Given the description of an element on the screen output the (x, y) to click on. 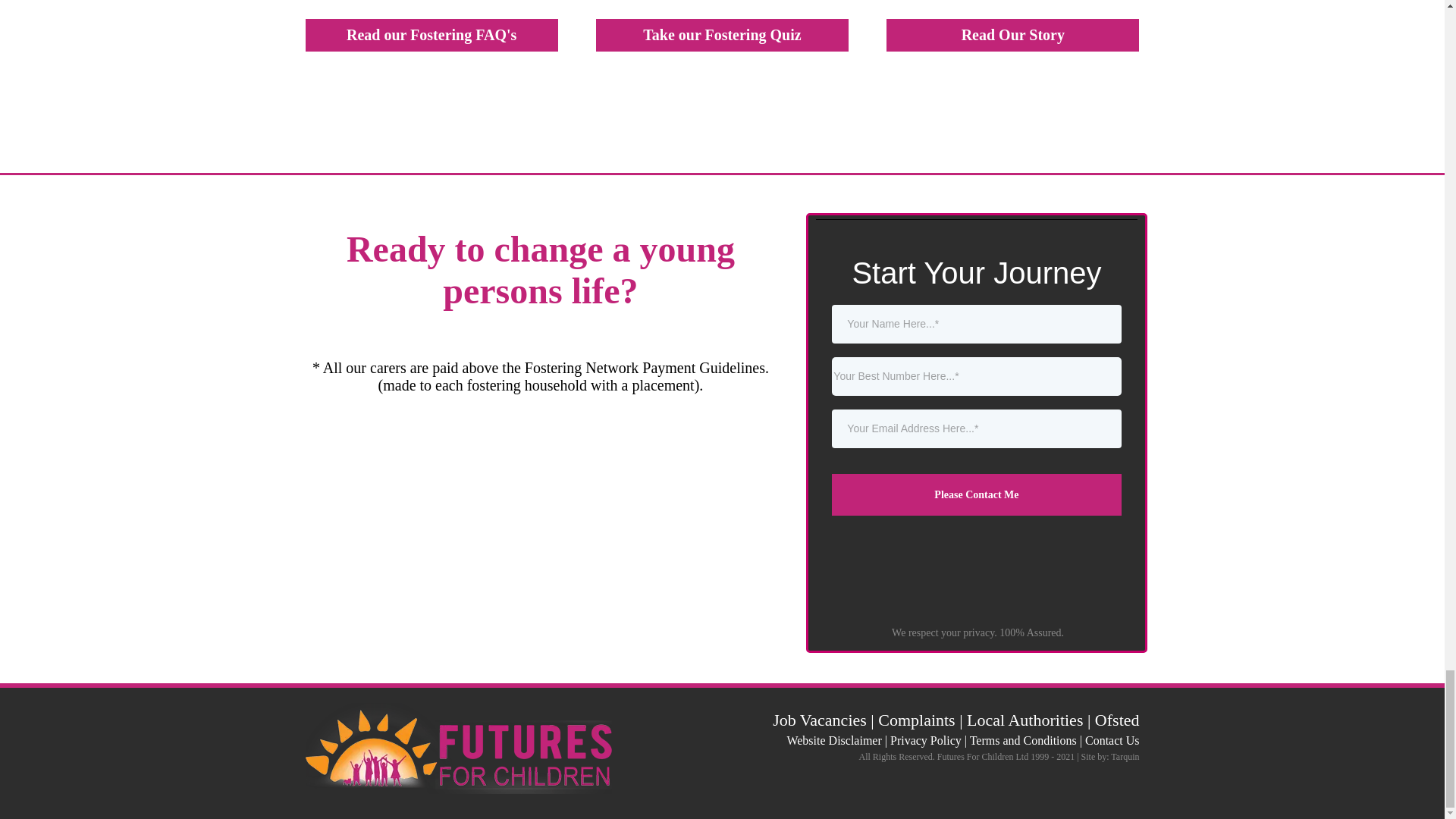
Complaints (916, 719)
Contact Us (1112, 739)
Please Contact Me (976, 494)
Read our Fostering FAQ's (430, 34)
Website Disclaimer (833, 739)
Ofsted (1117, 719)
Take our Fostering Quiz (721, 34)
Local Authorities (1024, 719)
Terms and Conditions (1023, 739)
Tarquin (1124, 756)
